Given the description of an element on the screen output the (x, y) to click on. 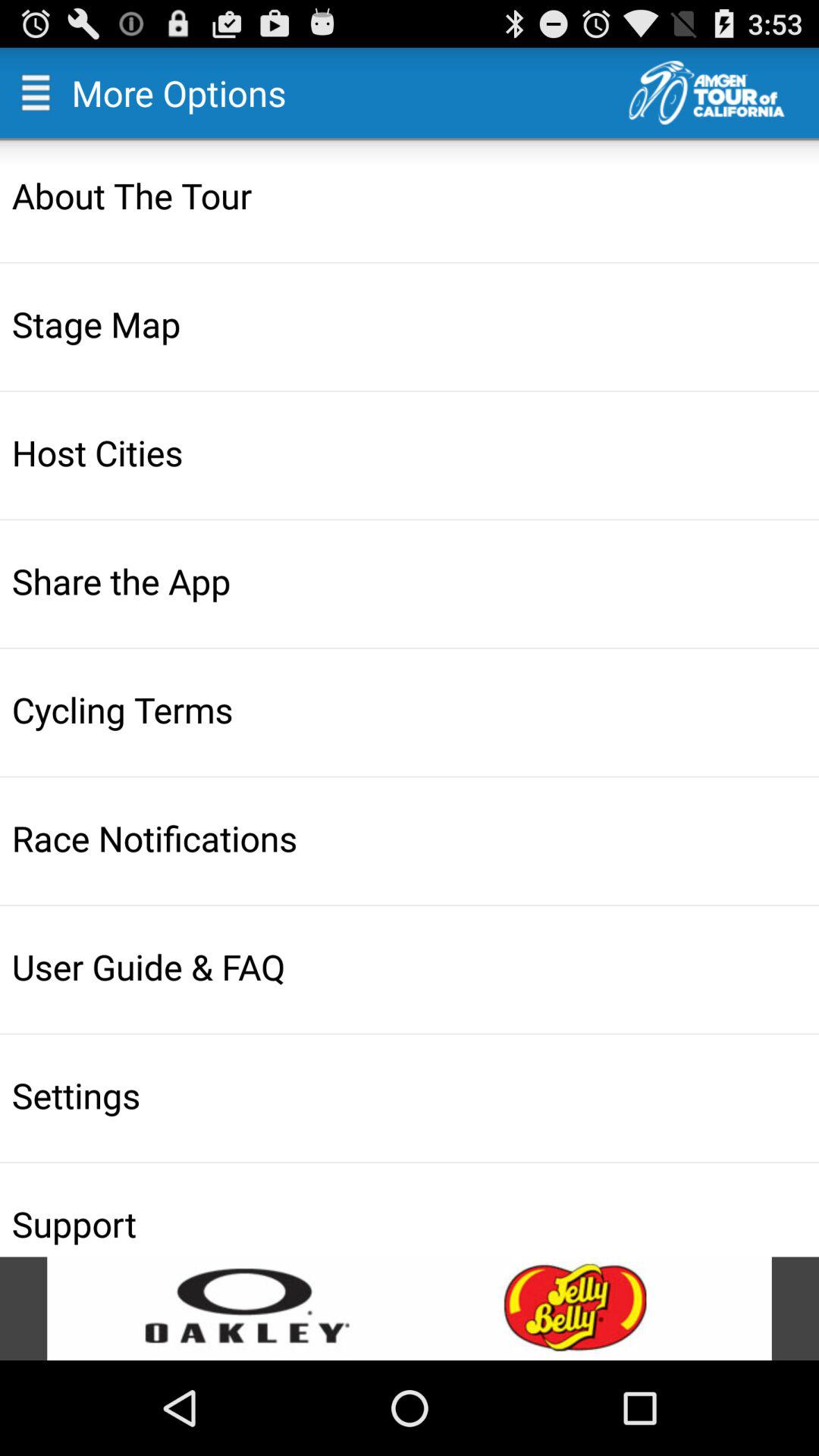
launch cycling terms item (411, 709)
